Given the description of an element on the screen output the (x, y) to click on. 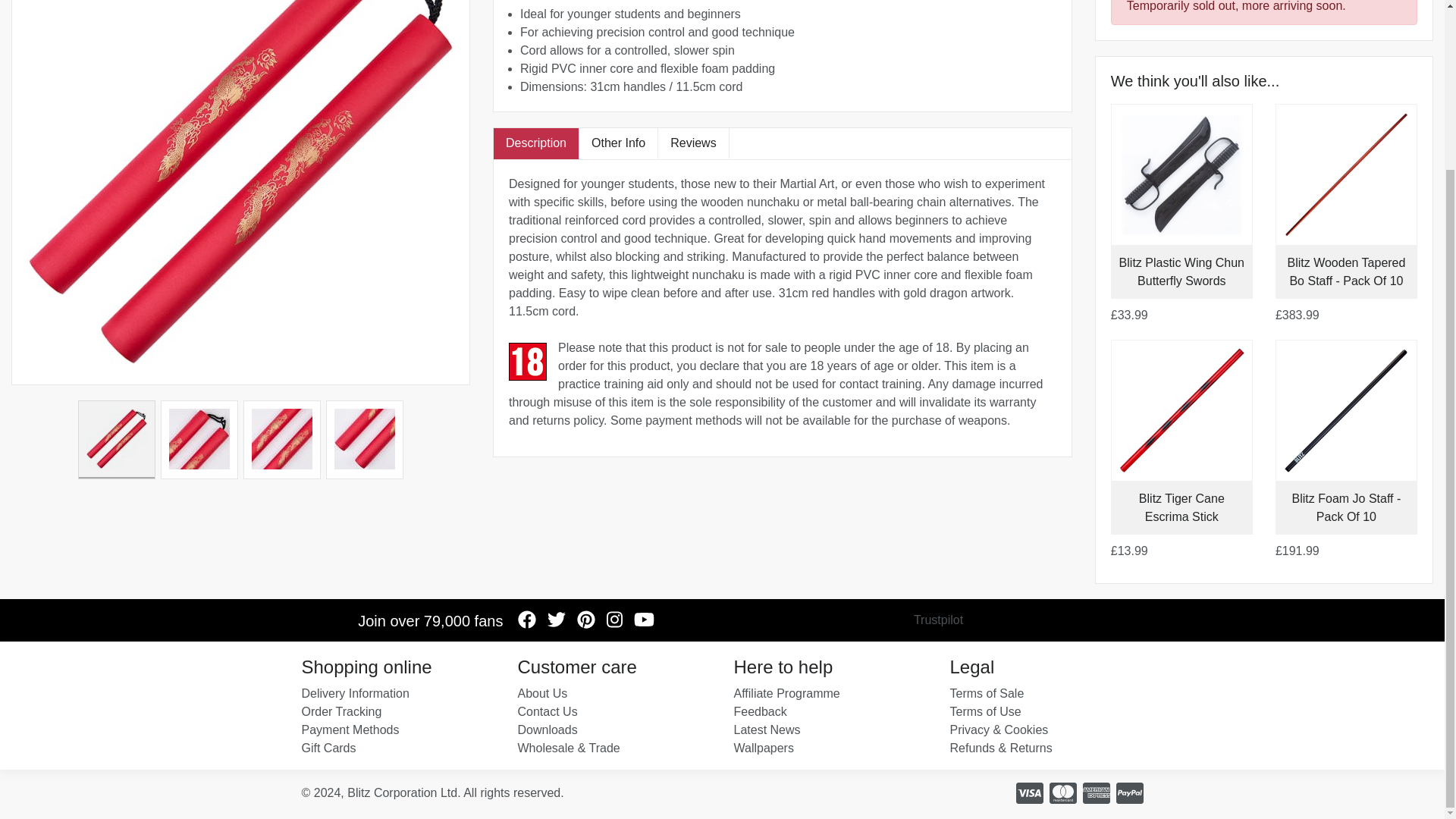
Blitz Tiger Cane Escrima Stick (1181, 507)
Blitz Foam Jo Staff - Pack Of 10 (1346, 507)
Blitz Wooden Tapered Bo Staff - Pack Of 10 (1346, 271)
Blitz Plastic Wing Chun Butterfly Swords (1181, 271)
Blitz Red Foam Cord Nunchaku - Detail 3 (364, 439)
Blitz Red Foam Cord Nunchaku (116, 439)
Blitz Red Foam Cord Nunchaku - Detail 2 (281, 439)
Blitz Red Foam Cord Nunchaku - Detail 1 (199, 439)
